Given the description of an element on the screen output the (x, y) to click on. 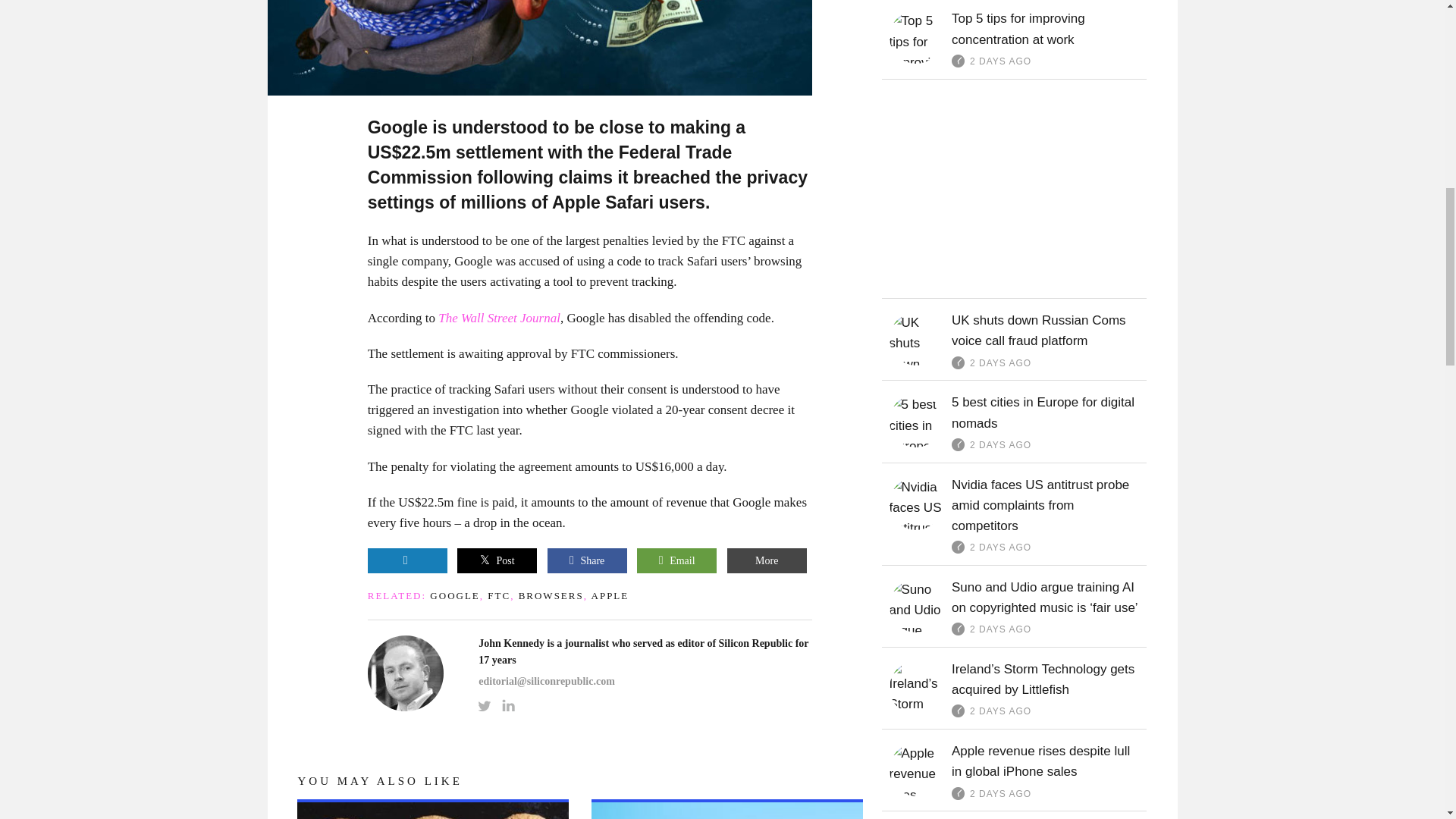
Wall Street Journal (499, 318)
